Given the description of an element on the screen output the (x, y) to click on. 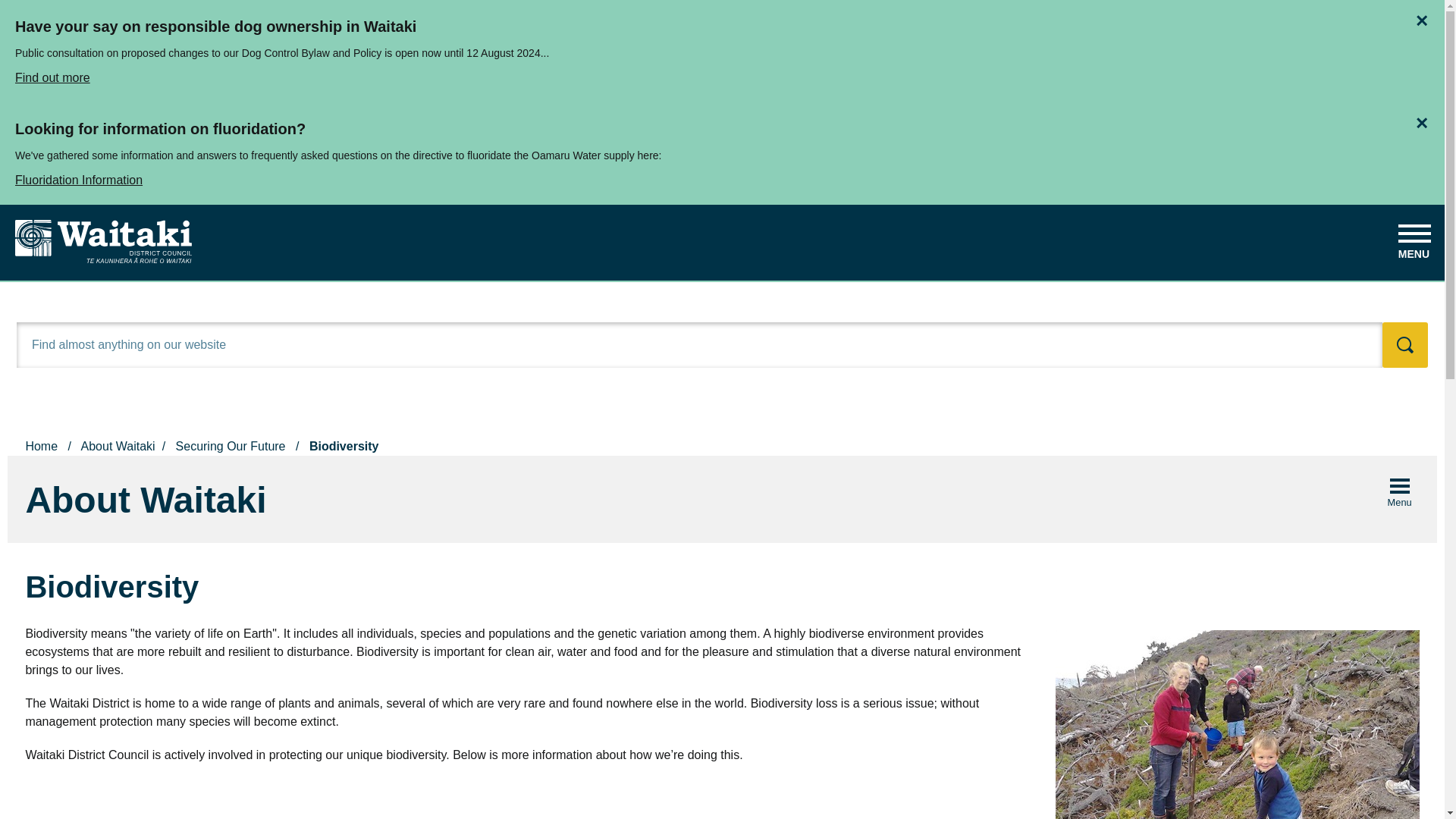
MENU (1413, 236)
Find out more (721, 73)
Search (1404, 344)
Fluoridation Information (721, 176)
Search (1404, 344)
Waitaki District Council - Home - Logo (103, 241)
Search (1404, 344)
